Given the description of an element on the screen output the (x, y) to click on. 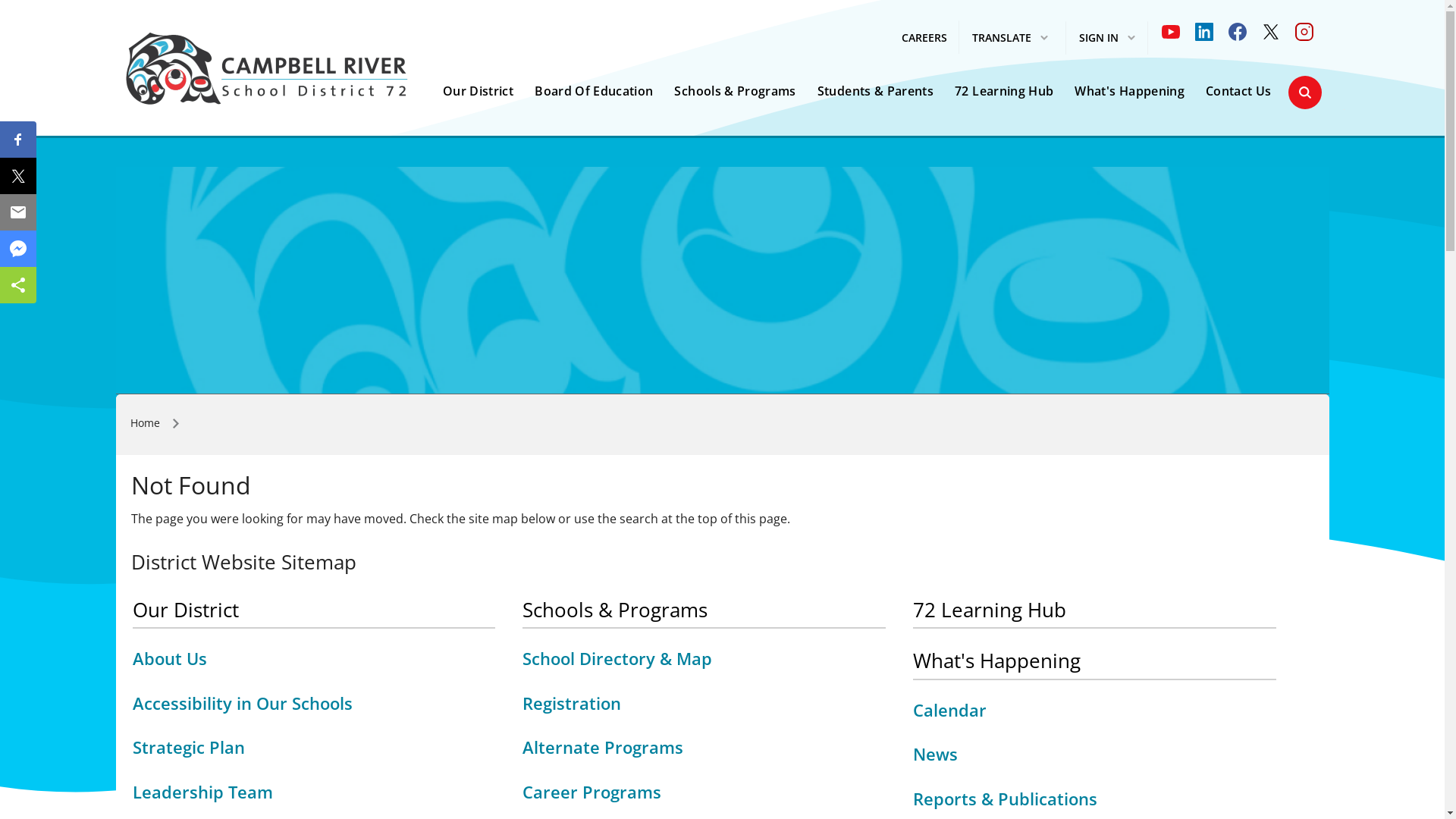
TRANSLATE Element type: text (1010, 37)
Home Element type: text (145, 422)
Our District Element type: text (184, 609)
Our District Element type: text (477, 90)
Registration Element type: text (571, 702)
SIGN IN Element type: text (1106, 37)
Site Map Element type: text (219, 422)
72 Learning Hub Element type: text (989, 609)
What'S Happening Element type: text (1129, 90)
Calendar Element type: text (949, 708)
Career Programs Element type: text (591, 790)
Board Of Education Element type: text (593, 90)
Schools & Programs Element type: text (614, 609)
Students & Parents Element type: text (875, 90)
Contact Us Element type: text (1238, 90)
What'S Happening Element type: text (996, 660)
News Element type: text (935, 753)
72 Learning Hub Element type: text (1003, 90)
Reports & Publications Element type: text (1005, 798)
Schools & Programs Element type: text (734, 90)
About Us Element type: text (168, 657)
Strategic Plan Element type: text (187, 746)
School Directory & Map Element type: text (617, 657)
CAREERS Element type: text (923, 37)
Accessibility in Our Schools Element type: text (241, 702)
Search Opener Element type: text (1304, 92)
Leadership Team Element type: text (201, 790)
Alternate Programs Element type: text (602, 746)
